Given the description of an element on the screen output the (x, y) to click on. 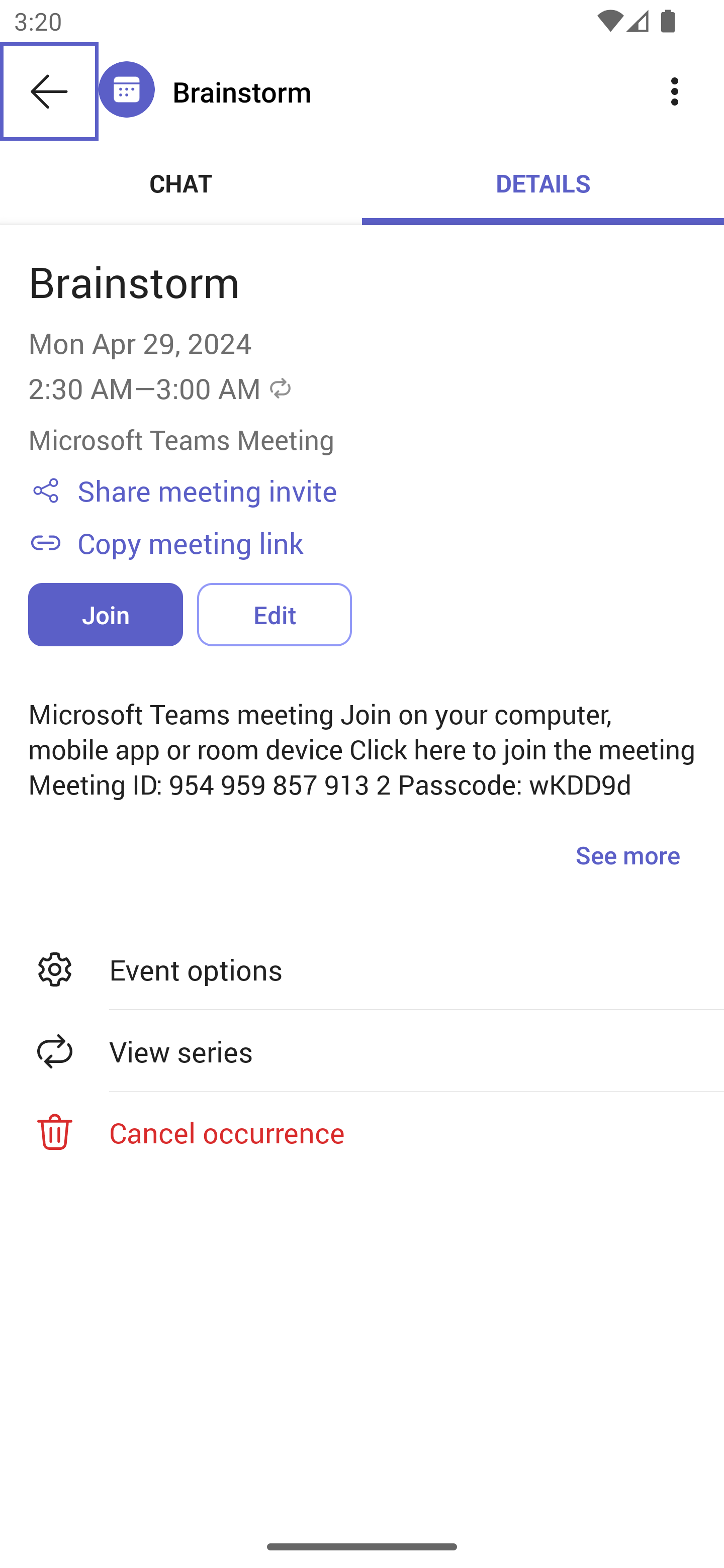
Back (49, 91)
More options (674, 90)
Brainstorm (398, 91)
Chat CHAT (181, 183)
Share meeting invite Share meeting invite link. (386, 490)
Copy meeting link (386, 542)
Join (105, 614)
Edit (273, 614)
See more See more detailed description (626, 854)
Event options (362, 968)
View series (362, 1051)
Cancel occurrence button Cancel occurrence (362, 1131)
